Given the description of an element on the screen output the (x, y) to click on. 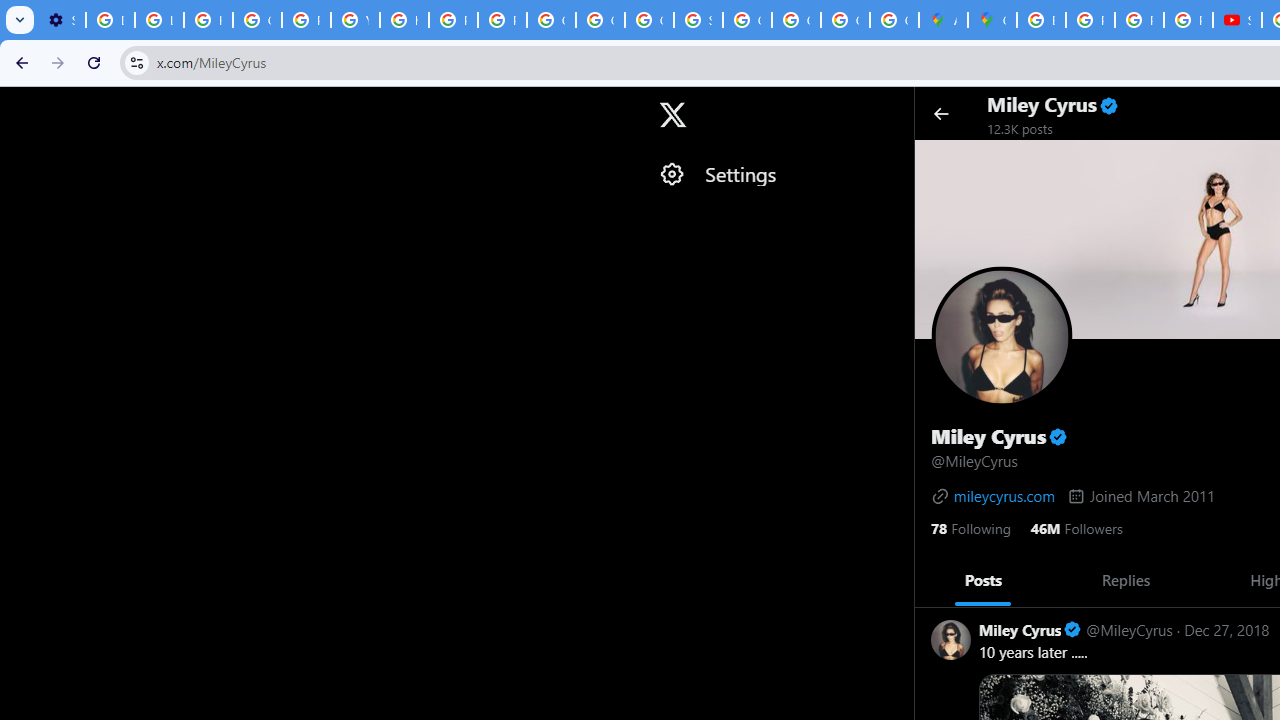
Verified account (1072, 629)
Privacy Help Center - Policies Help (1138, 20)
Delete photos & videos - Computer - Google Photos Help (109, 20)
78 Following (970, 526)
mileycyrus.com (993, 496)
Skip to trending (17, 105)
Opens profile photo (1002, 336)
